Given the description of an element on the screen output the (x, y) to click on. 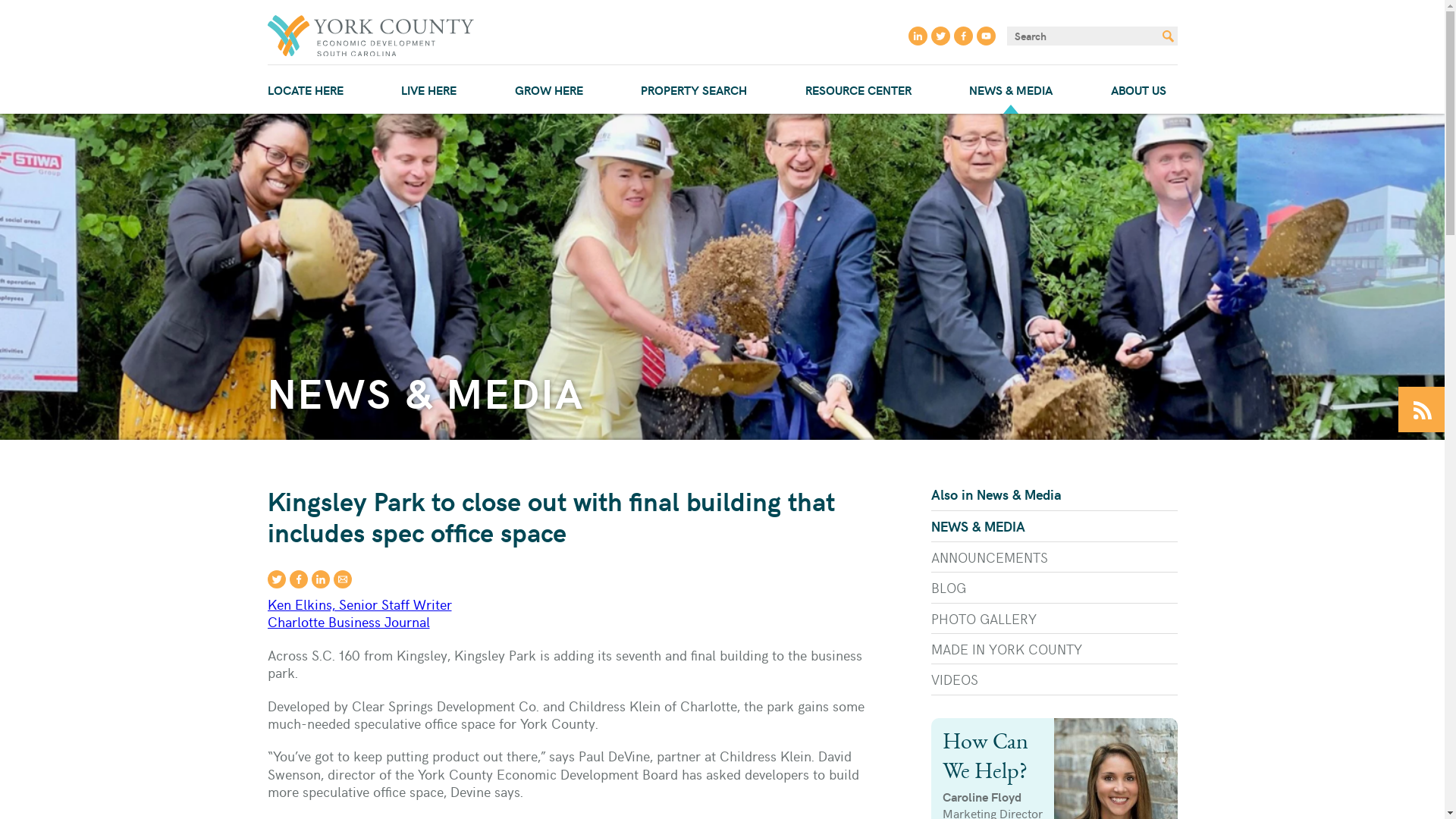
Share on Email (342, 579)
LIVE HERE (428, 89)
Share on Linkedin (320, 579)
LOCATE HERE (305, 89)
Share on Facebook (298, 579)
Share on Twitter (275, 579)
